Given the description of an element on the screen output the (x, y) to click on. 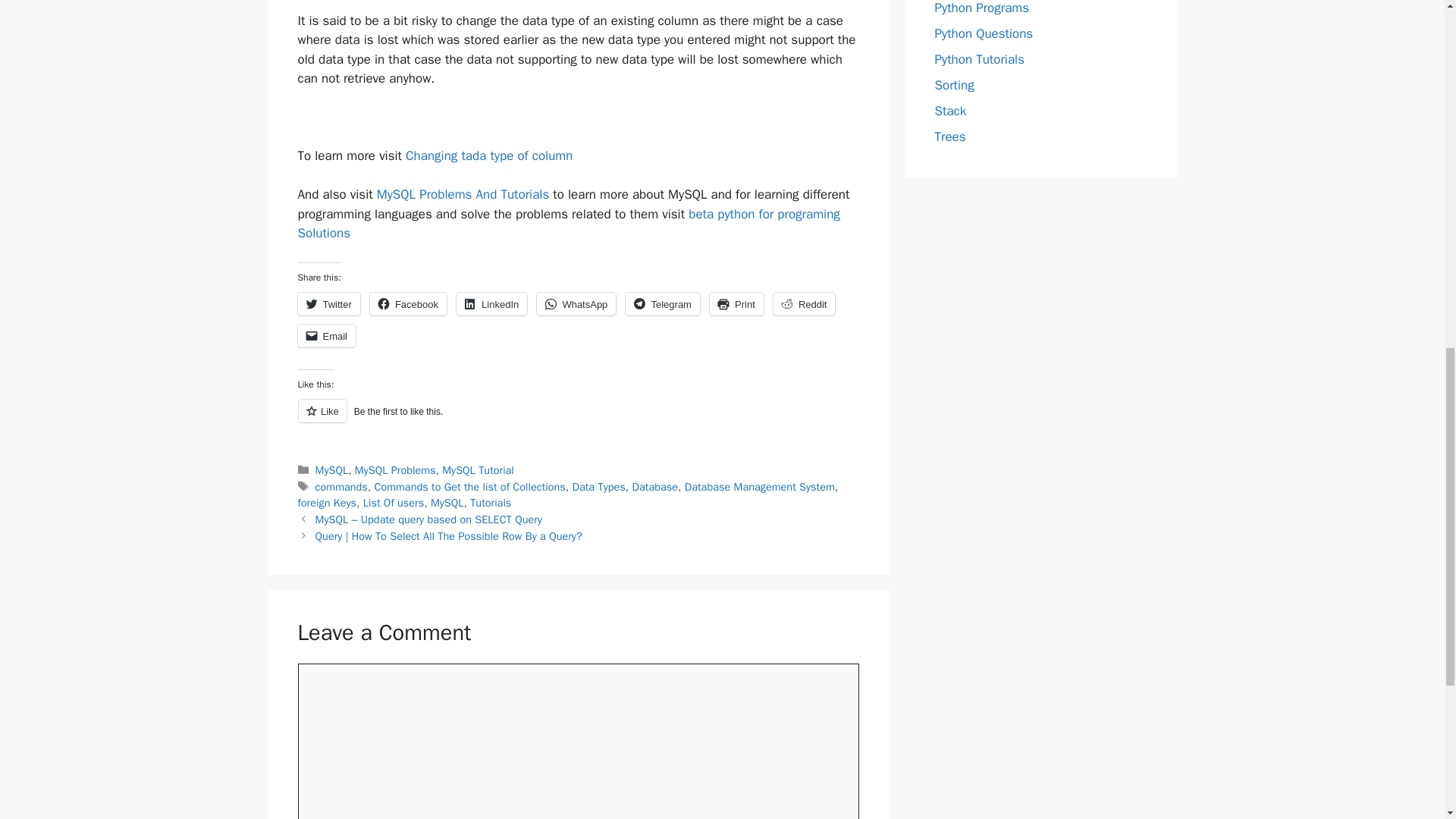
beta python for programing Solutions (568, 223)
MySQL Problems And Tutorials (463, 194)
Click to share on Twitter (328, 303)
Click to share on WhatsApp (576, 303)
MySQL Tutorial (477, 469)
LinkedIn (492, 303)
Click to share on Reddit (804, 303)
Telegram (662, 303)
MySQL Problems (395, 469)
WhatsApp (576, 303)
Like or Reblog (578, 419)
Click to email a link to a friend (326, 335)
Click to share on Facebook (407, 303)
Twitter (328, 303)
Print (736, 303)
